Given the description of an element on the screen output the (x, y) to click on. 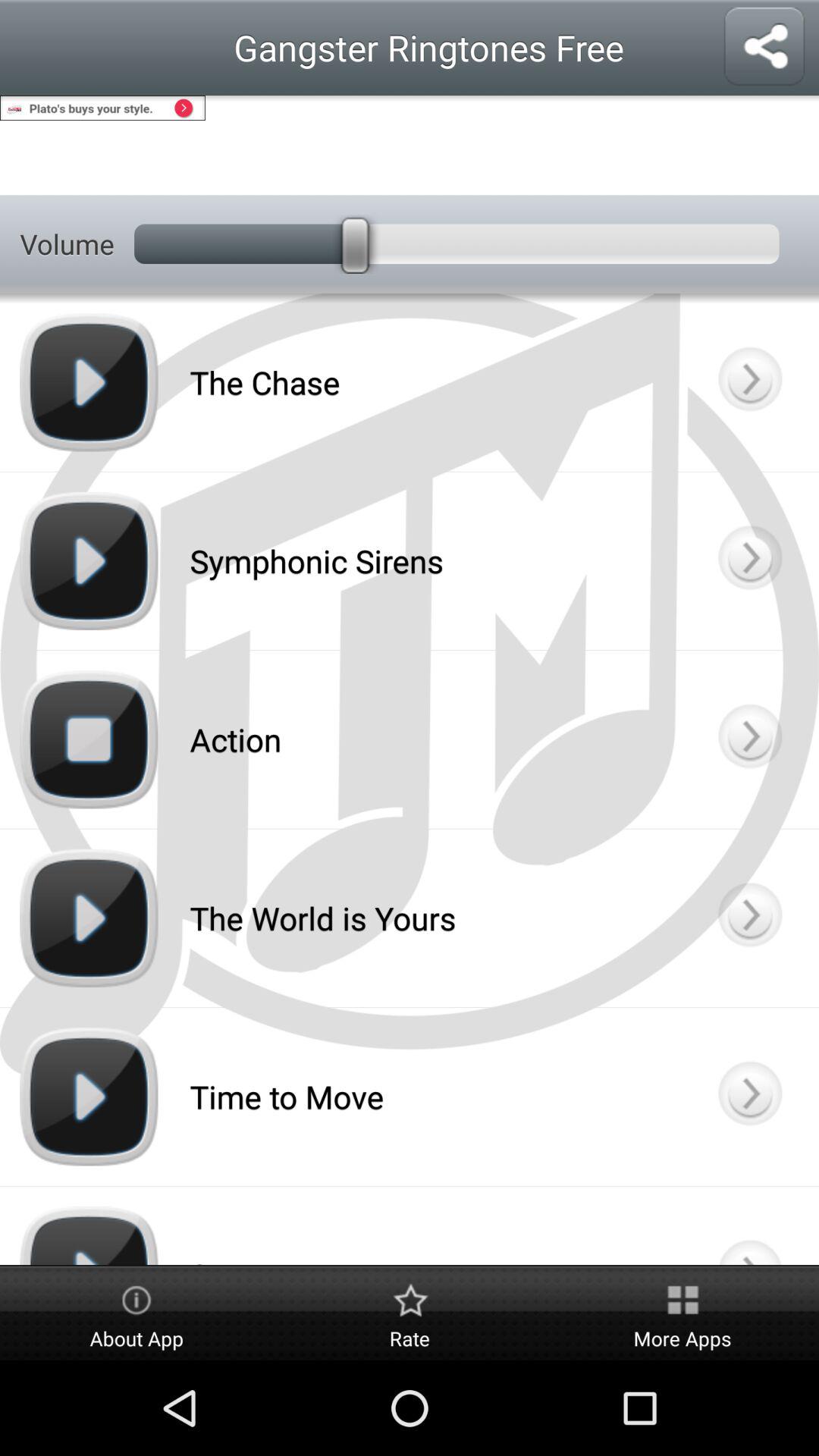
go next (749, 739)
